Given the description of an element on the screen output the (x, y) to click on. 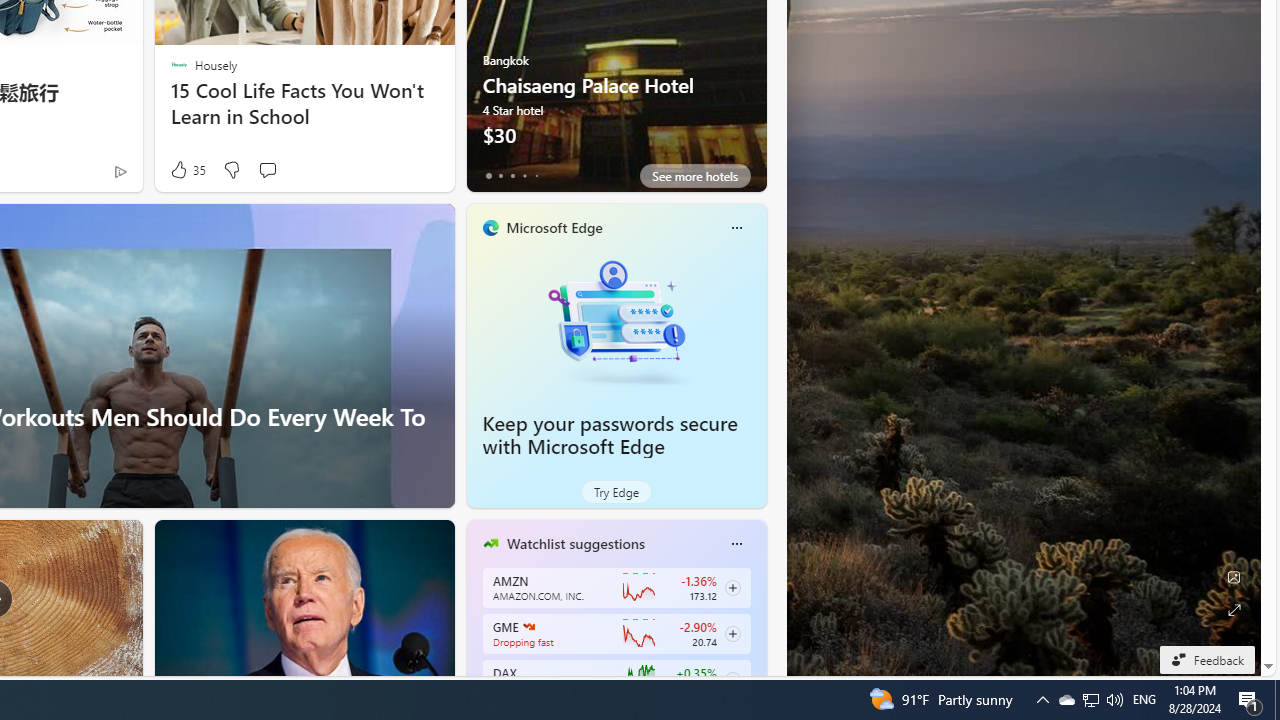
Class: follow-button  m (732, 679)
See more hotels (694, 175)
Keep your passwords secure with Microsoft Edge (610, 435)
Watchlist suggestions (575, 543)
Keep your passwords secure with Microsoft Edge (616, 321)
Try Edge (616, 491)
GAMESTOP CORP. (528, 626)
